Given the description of an element on the screen output the (x, y) to click on. 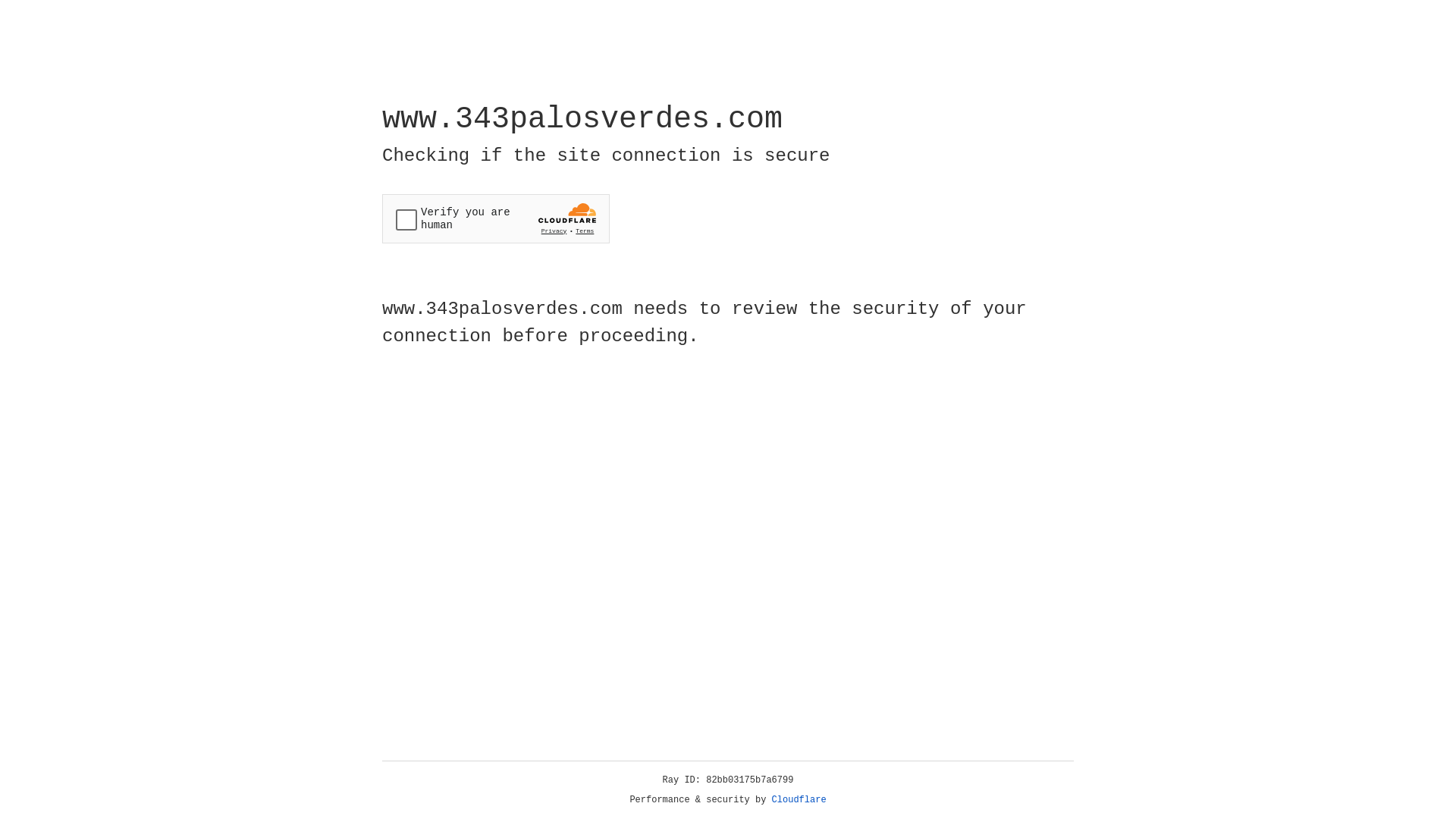
Widget containing a Cloudflare security challenge Element type: hover (495, 218)
Cloudflare Element type: text (798, 799)
